Given the description of an element on the screen output the (x, y) to click on. 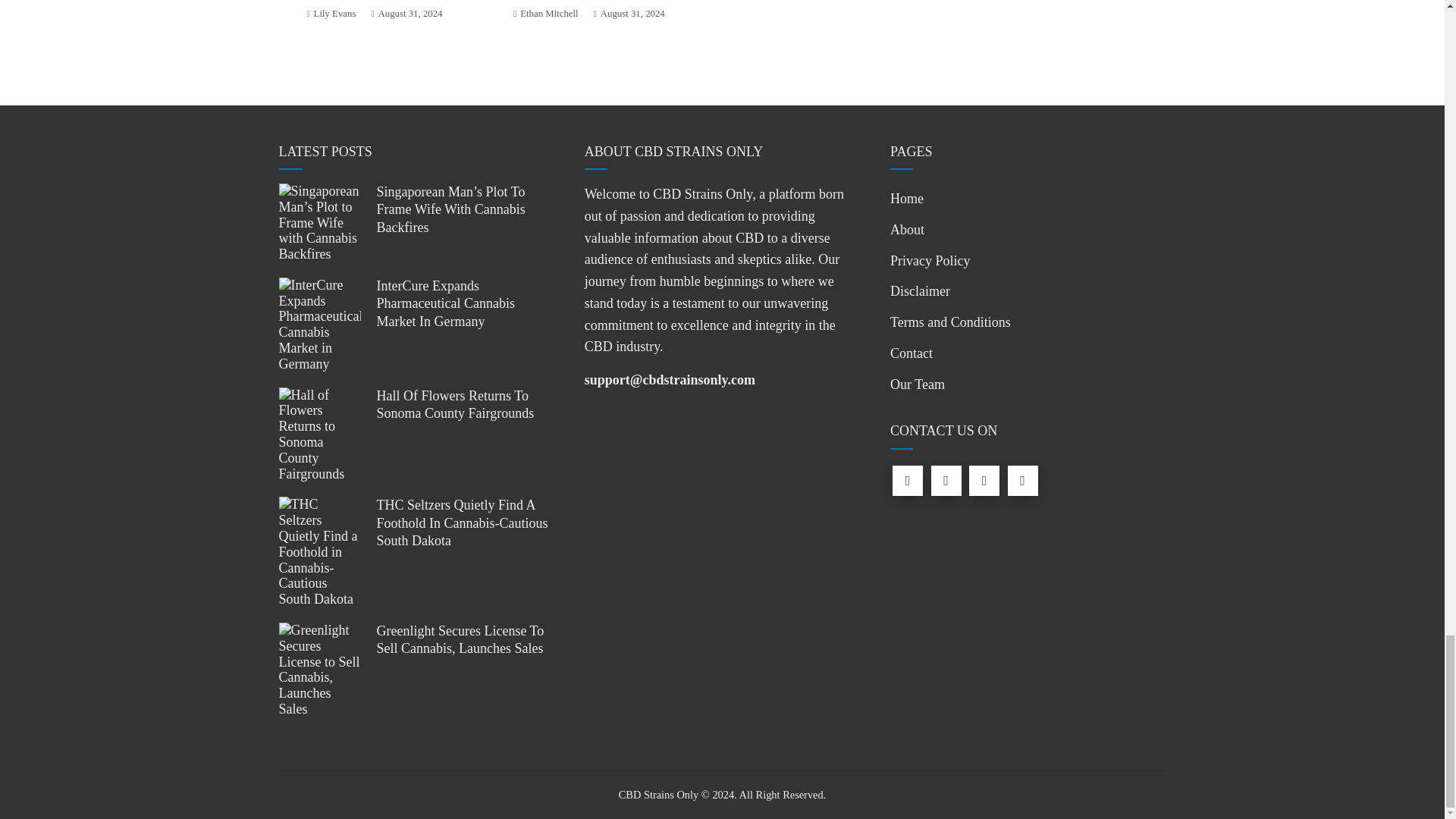
Facebook (907, 481)
Instagram (983, 481)
Twitter (945, 481)
Youtube (1022, 481)
